Given the description of an element on the screen output the (x, y) to click on. 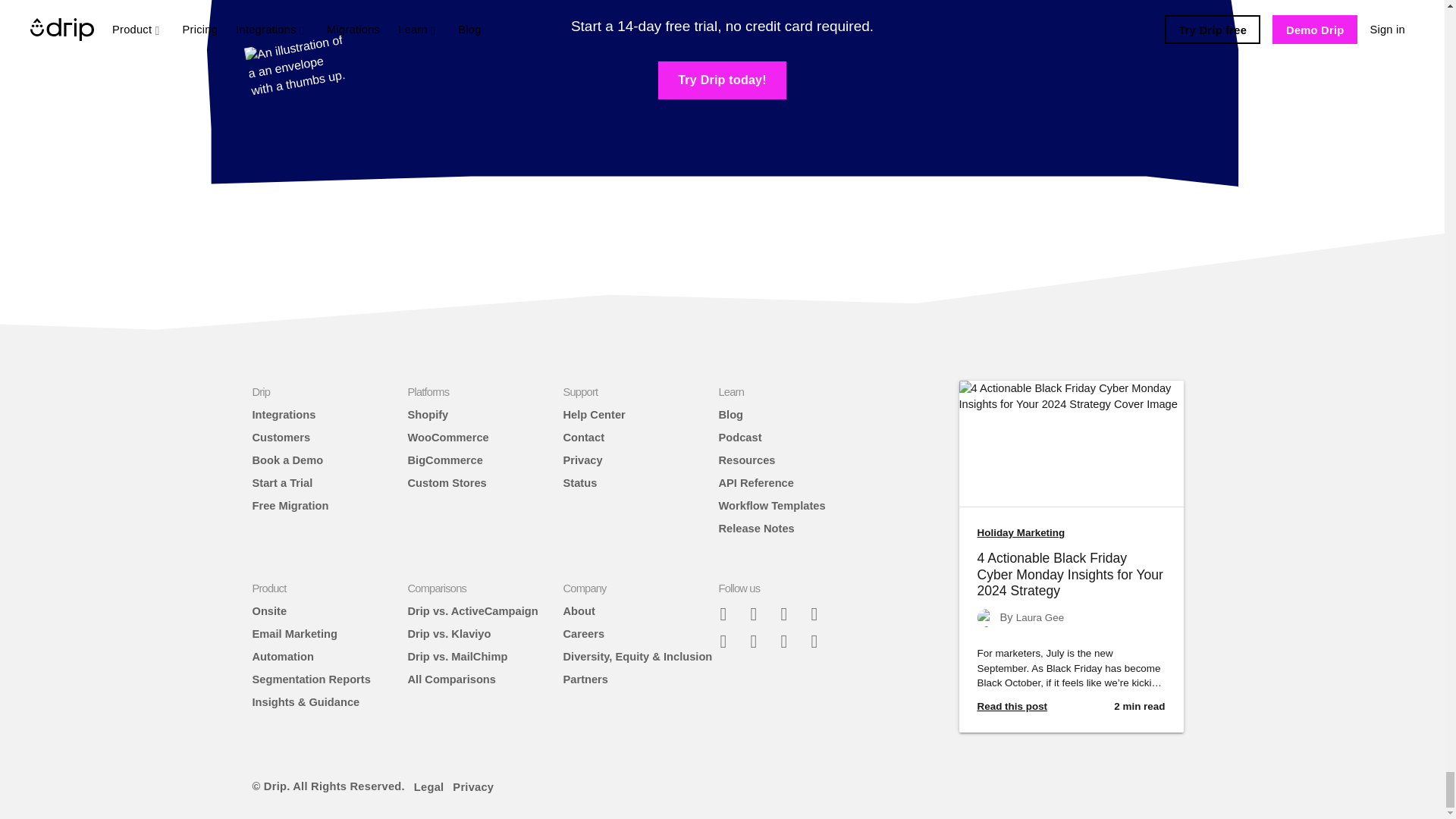
Spotify (759, 640)
Twitter (789, 613)
YouTube (820, 640)
Slack (729, 613)
Tiktok (729, 640)
Instagram (820, 613)
Facebook (759, 613)
Linkedin (789, 640)
